Given the description of an element on the screen output the (x, y) to click on. 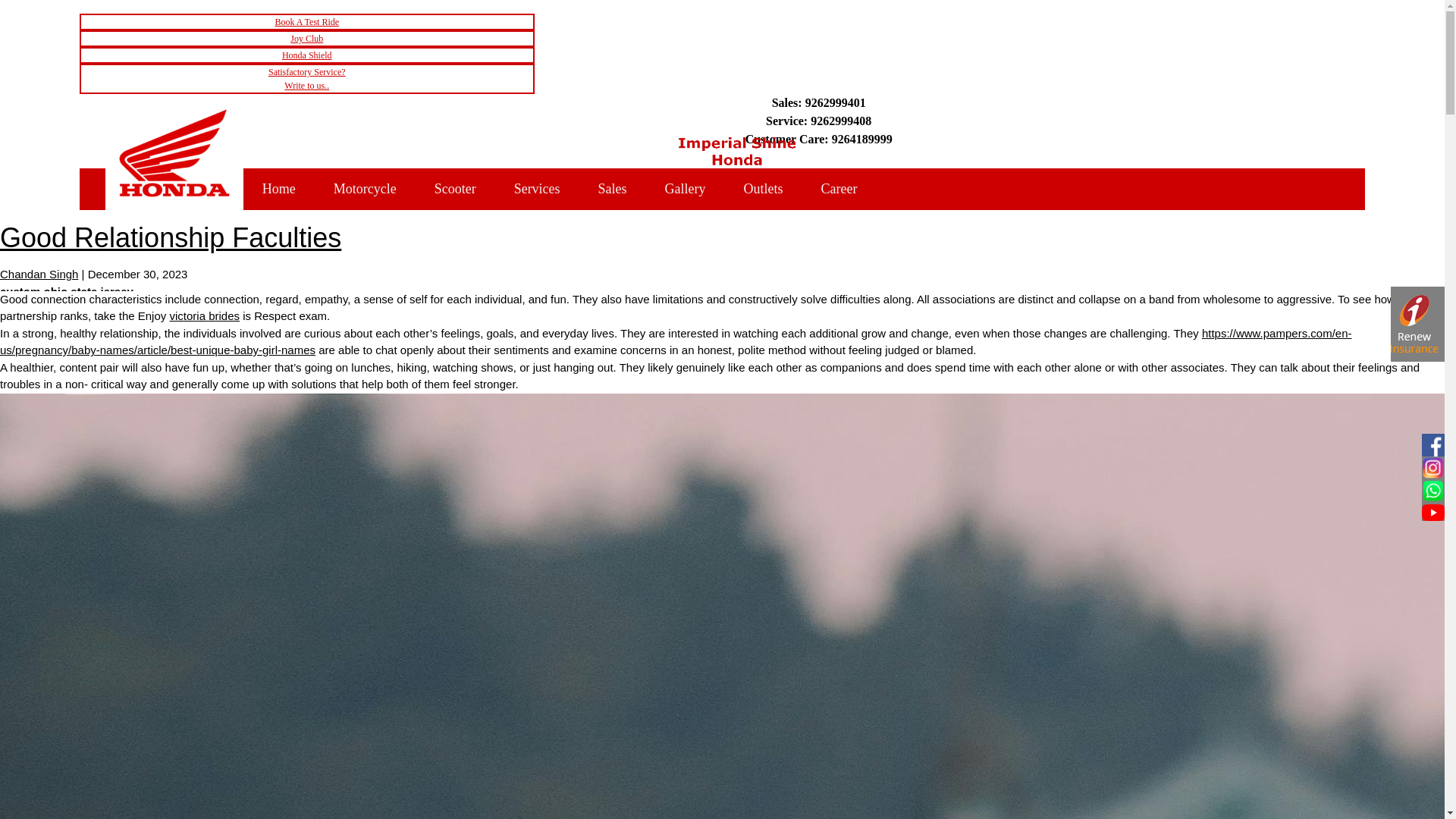
Honda Shield (307, 54)
Services (537, 188)
Home (278, 188)
Gallery (685, 188)
Outlets (763, 188)
Sales (612, 188)
Posts by Chandan Singh (39, 273)
Book A Test Ride (307, 21)
Service: 9262999408 (818, 121)
Joy Club (307, 38)
Career (839, 188)
Sales: 9262999401 (818, 103)
Good Relationship Faculties (170, 237)
Motorcycle (364, 188)
